Given the description of an element on the screen output the (x, y) to click on. 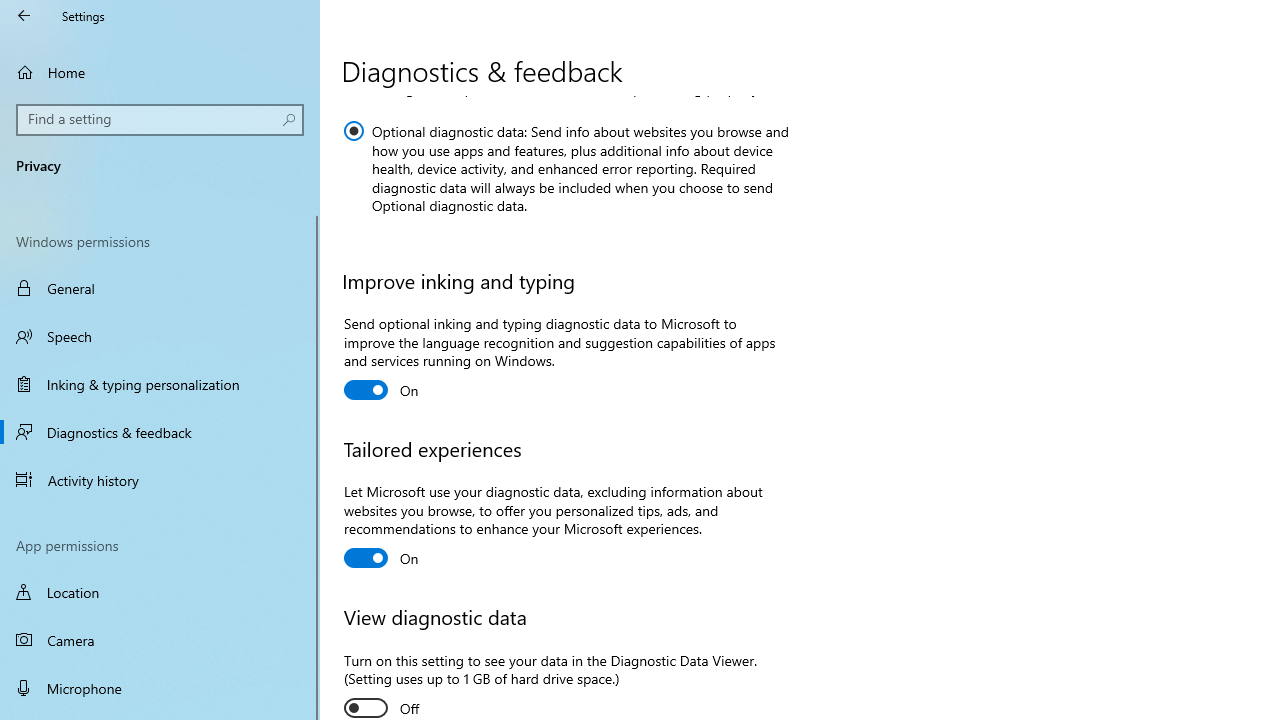
Get more info about these settings (562, 19)
Location (160, 592)
General (160, 287)
Search box, Find a setting (160, 119)
Activity history (160, 479)
Speech (160, 335)
Back (24, 15)
Home (160, 71)
Camera (160, 639)
Inking & typing personalization (160, 384)
Microphone (160, 687)
